Given the description of an element on the screen output the (x, y) to click on. 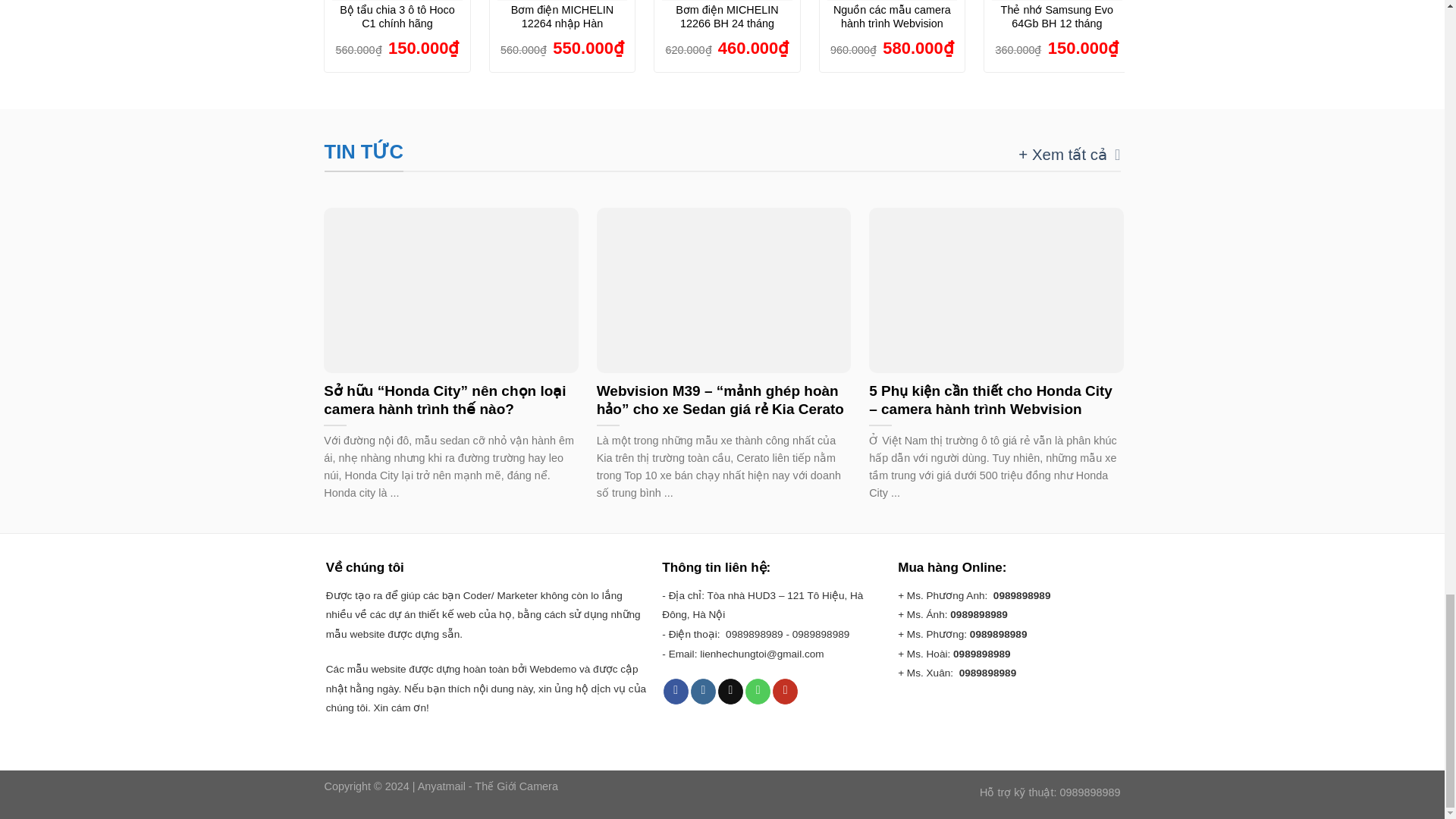
Follow on Facebook (675, 691)
Send us an email (729, 691)
Follow on Instagram (703, 691)
Call us (757, 691)
Follow on YouTube (785, 691)
